Given the description of an element on the screen output the (x, y) to click on. 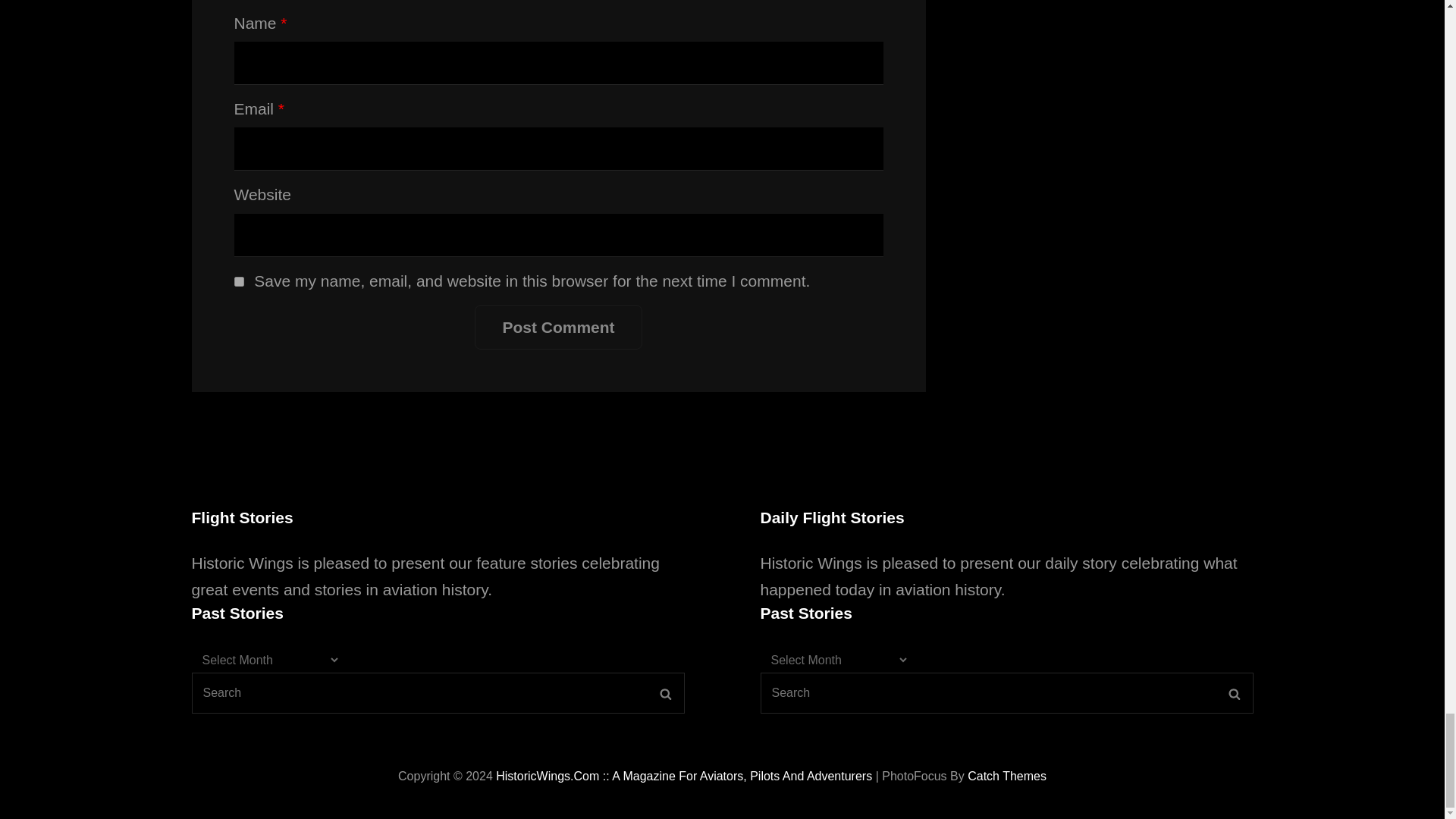
yes (237, 281)
Post Comment (558, 327)
Post Comment (558, 327)
